Given the description of an element on the screen output the (x, y) to click on. 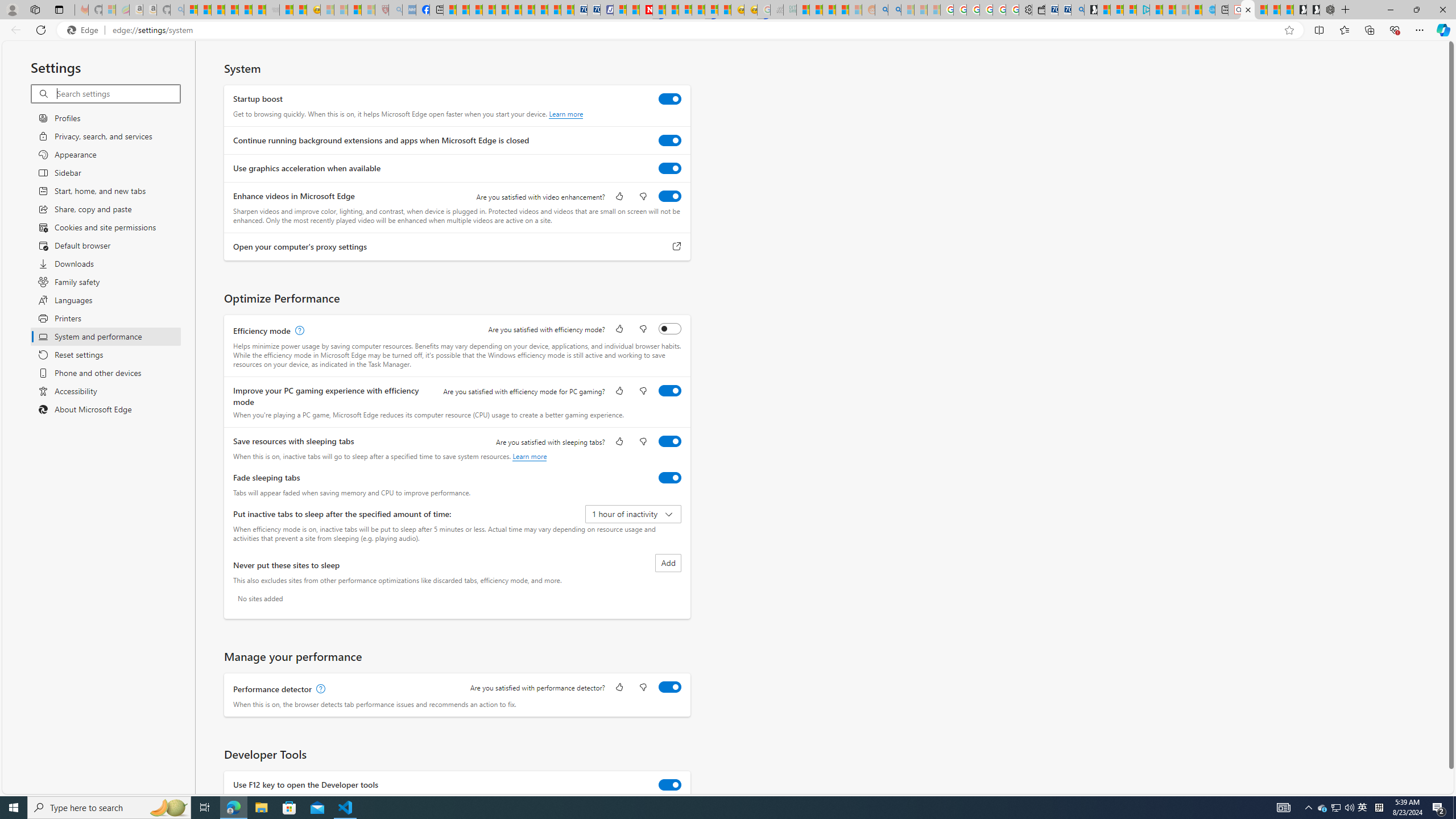
Fade sleeping tabs (669, 477)
Add site to never put these sites to sleep list (668, 562)
Search settings (117, 93)
Improve your PC gaming experience with efficiency mode (669, 390)
Edge (84, 29)
